Given the description of an element on the screen output the (x, y) to click on. 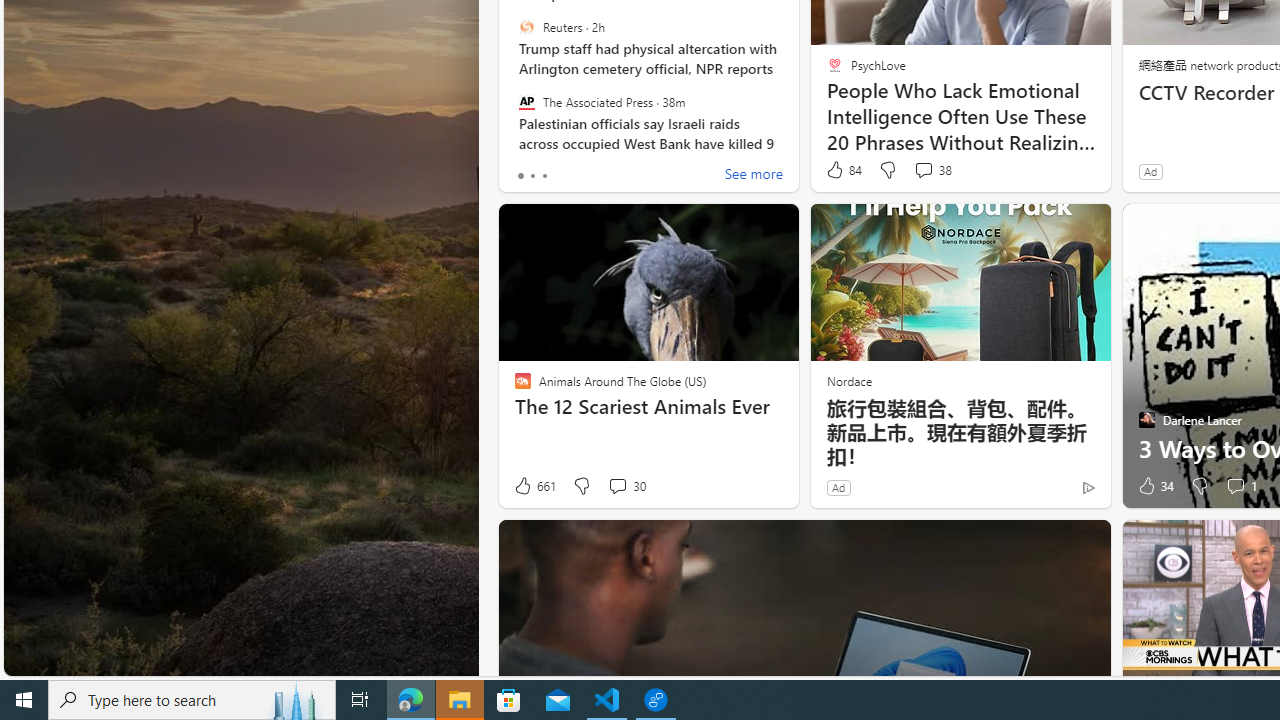
661 Like (534, 485)
tab-2 (543, 175)
Ad (838, 487)
View comments 1 Comment (1240, 485)
Dislike (1199, 485)
Nordace (848, 380)
See more (753, 175)
